Given the description of an element on the screen output the (x, y) to click on. 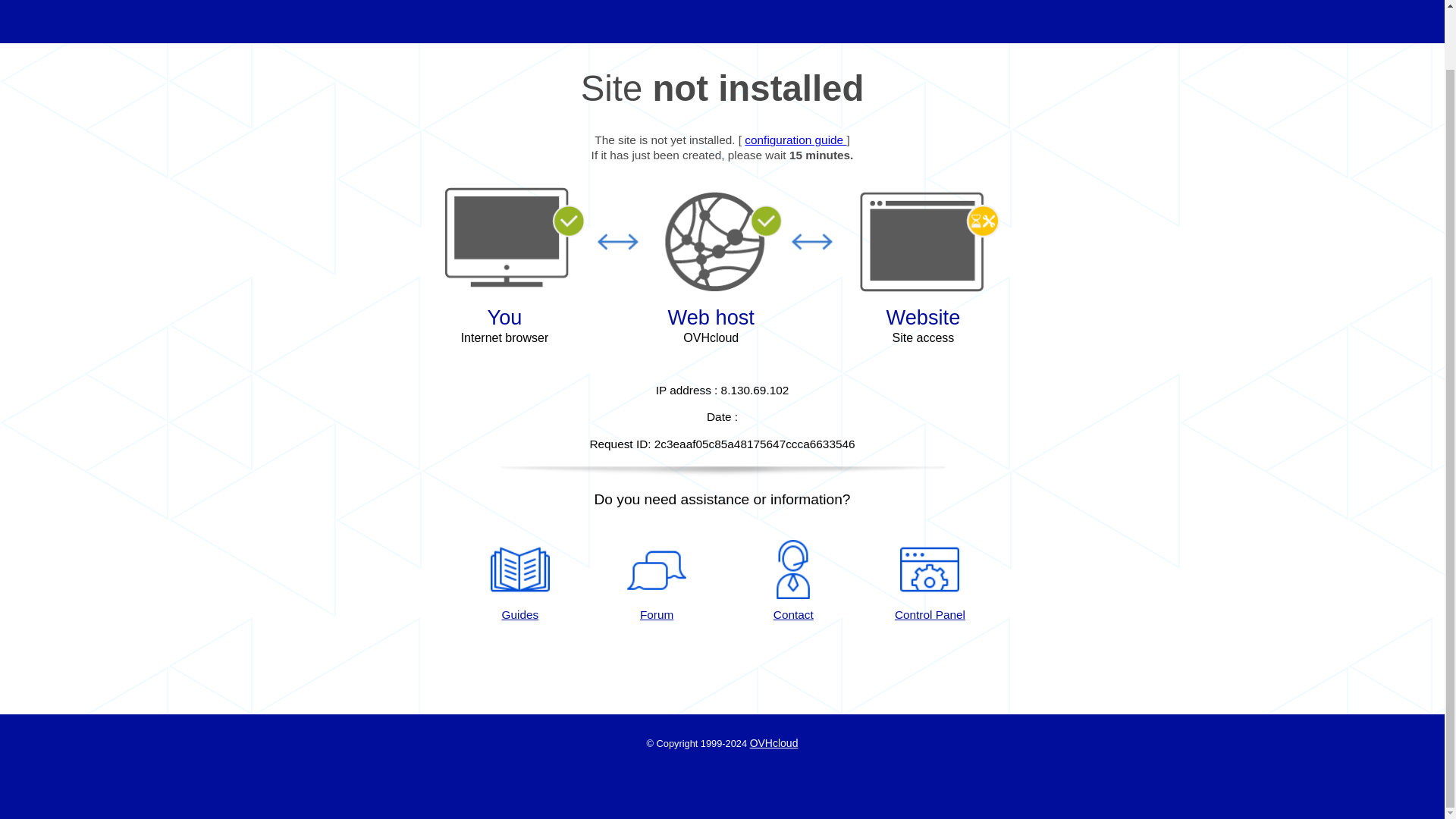
Guides (794, 139)
Control Panel (930, 581)
Contact (793, 581)
Contact (793, 581)
Guides (519, 581)
Guides (519, 581)
Forum (656, 581)
Control Panel (930, 581)
configuration guide (794, 139)
Forum (656, 581)
OVHcloud (773, 743)
